Given the description of an element on the screen output the (x, y) to click on. 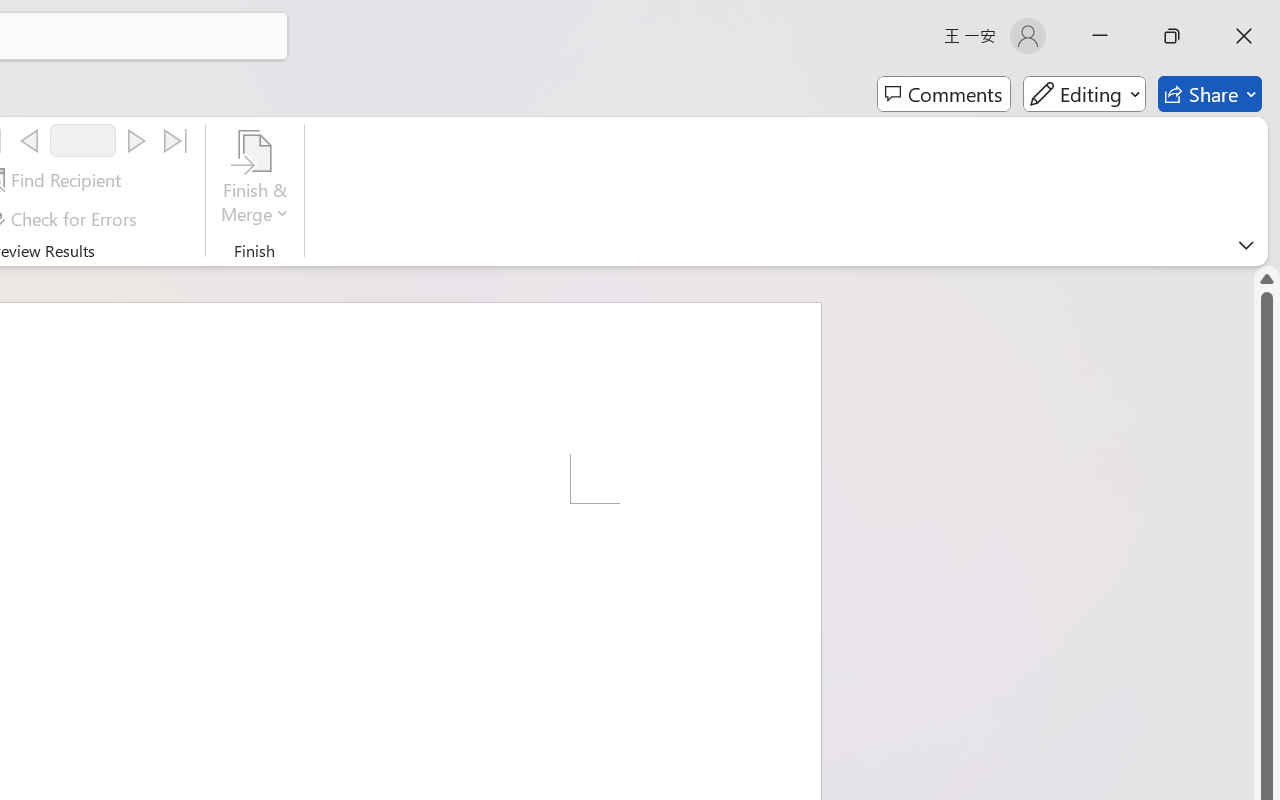
Ribbon Display Options (1246, 245)
Last (175, 141)
Line up (1267, 278)
Next (136, 141)
Comments (943, 94)
Finish & Merge (255, 179)
Share (1210, 94)
Mode (1083, 94)
Record (83, 140)
Minimize (1099, 36)
Close (1244, 36)
Previous (29, 141)
Restore Down (1172, 36)
